Given the description of an element on the screen output the (x, y) to click on. 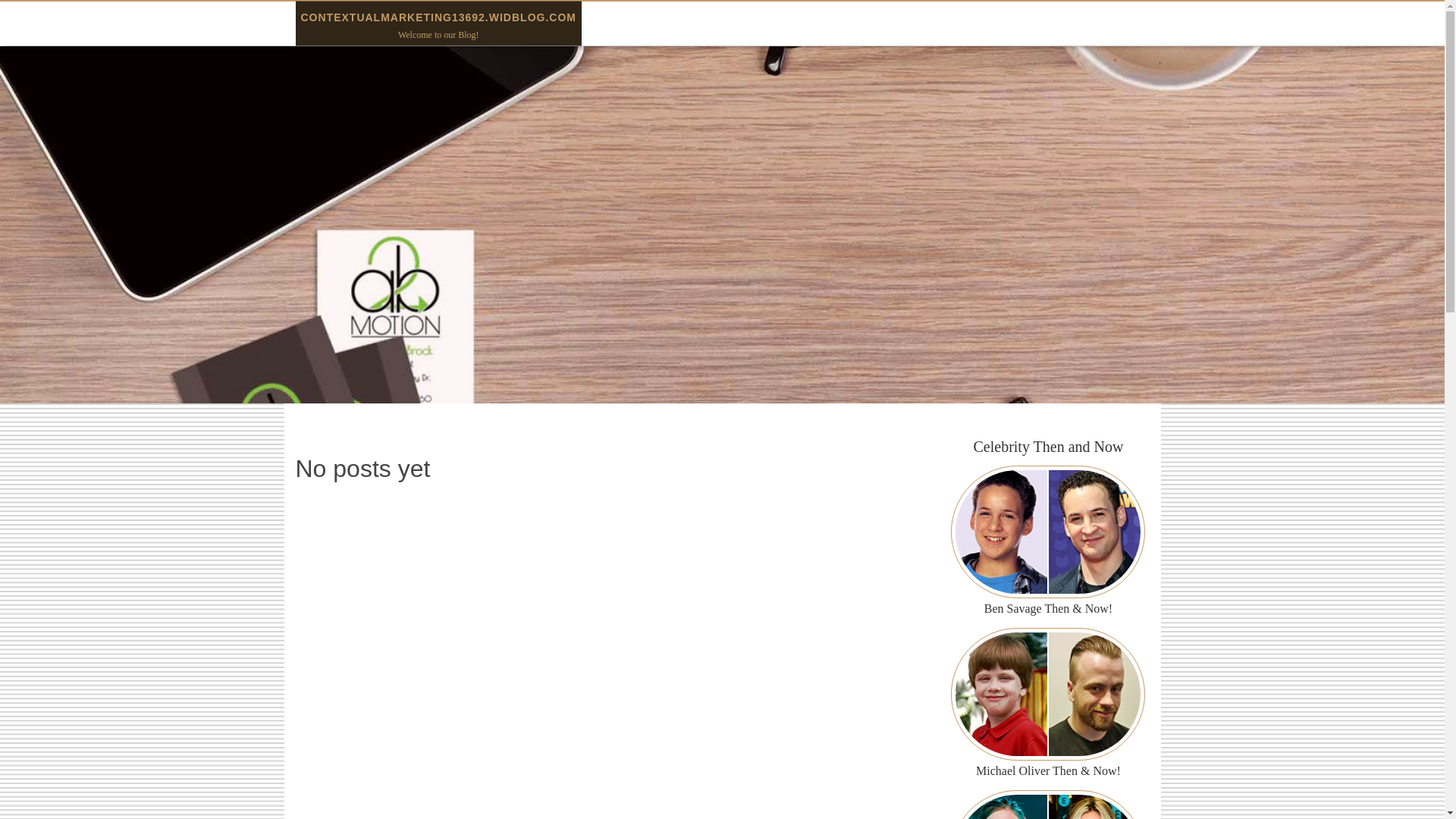
Skip to content (37, 10)
CONTEXTUALMARKETING13692.WIDBLOG.COM (437, 16)
